Given the description of an element on the screen output the (x, y) to click on. 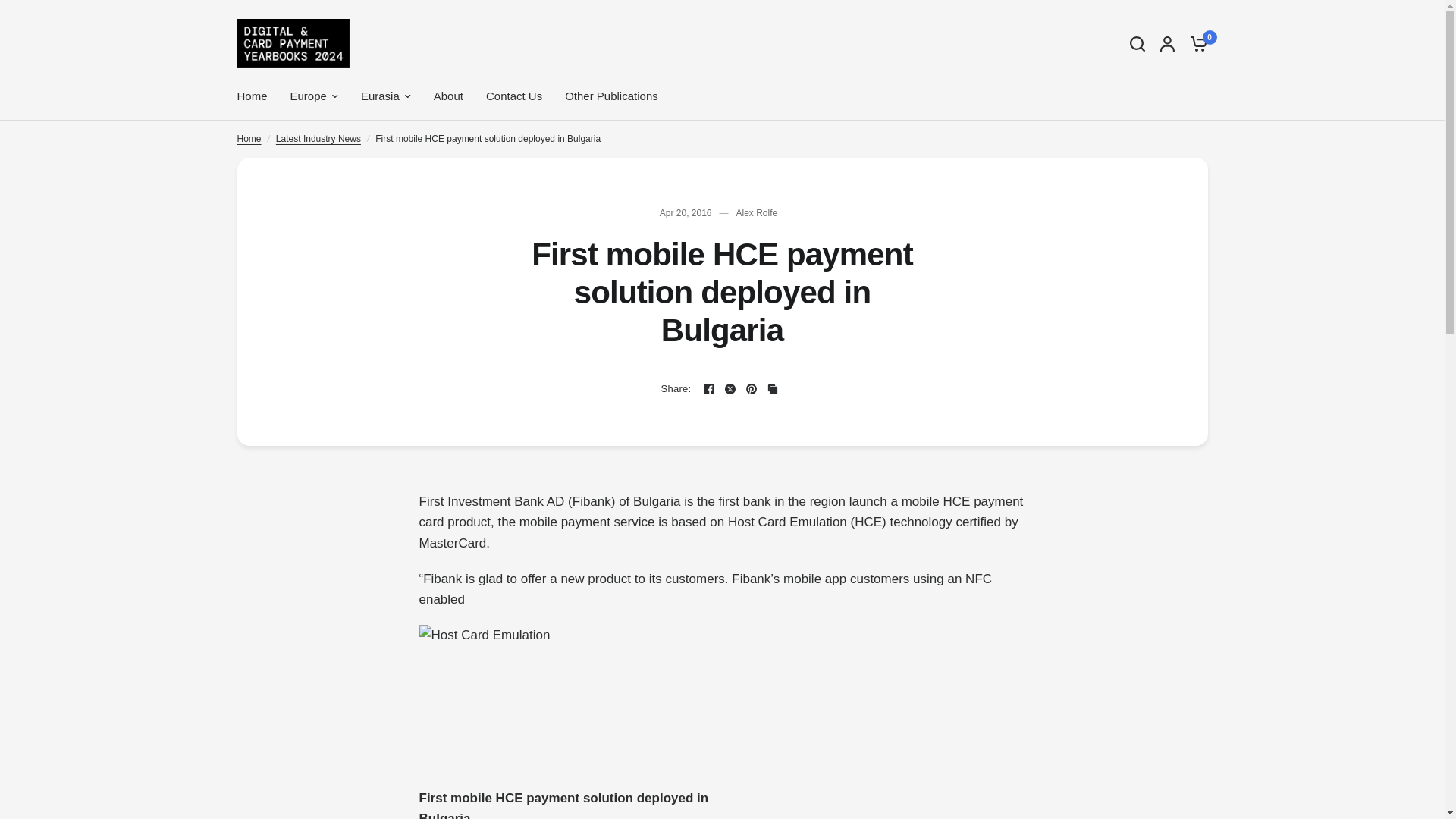
About (448, 95)
Other Publications (611, 95)
Contact Us (513, 95)
Latest Industry News (318, 138)
Home (247, 138)
Home (250, 95)
Eurasia (385, 95)
Europe (313, 95)
